Given the description of an element on the screen output the (x, y) to click on. 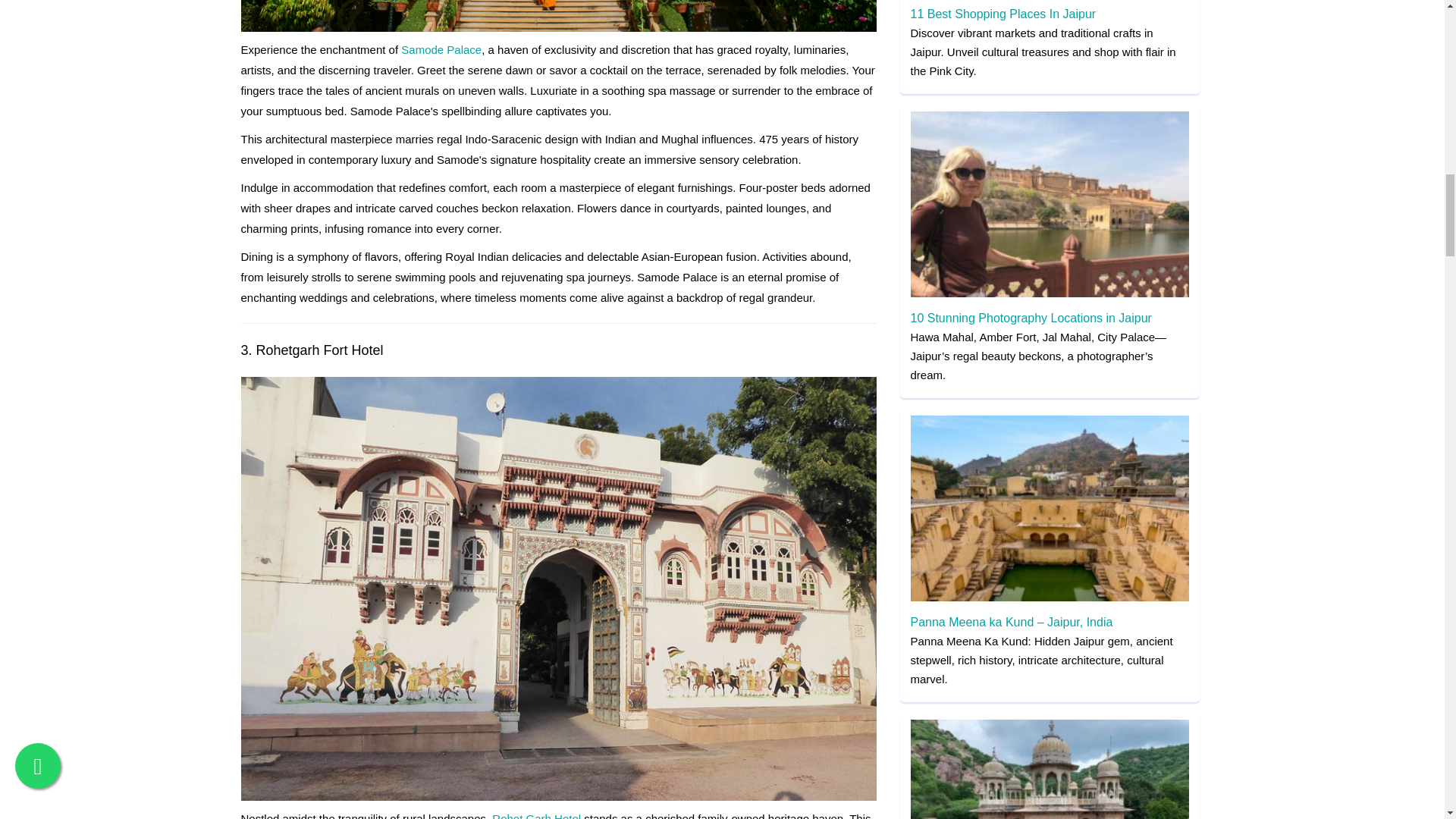
Rohet Garh Hotel (536, 815)
Samode Palace (441, 49)
